Given the description of an element on the screen output the (x, y) to click on. 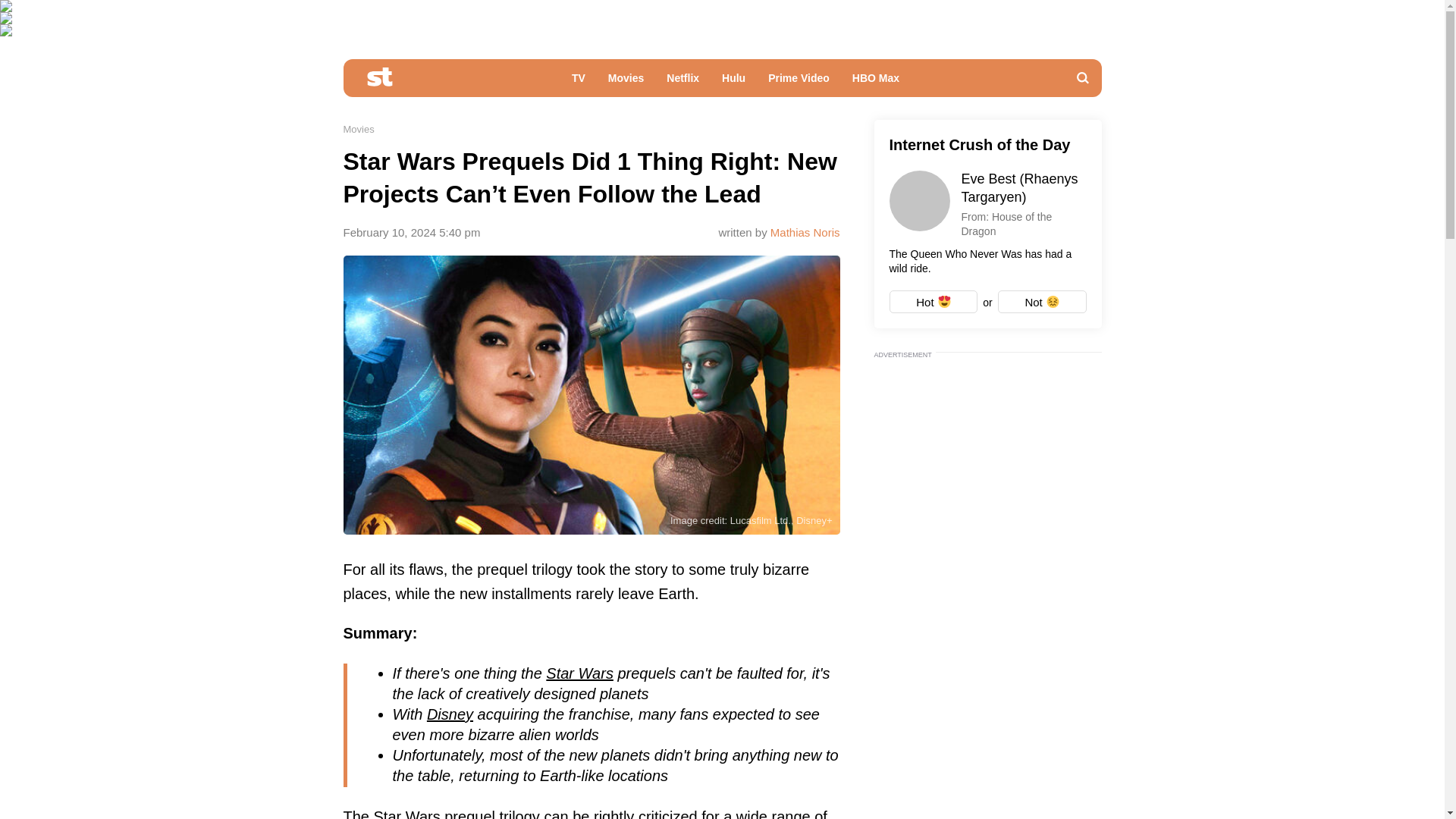
Hulu (733, 82)
Movies (625, 82)
Prime Video (799, 82)
Disney (449, 713)
HBO Max (876, 82)
TV (578, 82)
Star Wars (579, 672)
Movies (358, 128)
Netflix (682, 82)
Mathias Noris (805, 232)
